Given the description of an element on the screen output the (x, y) to click on. 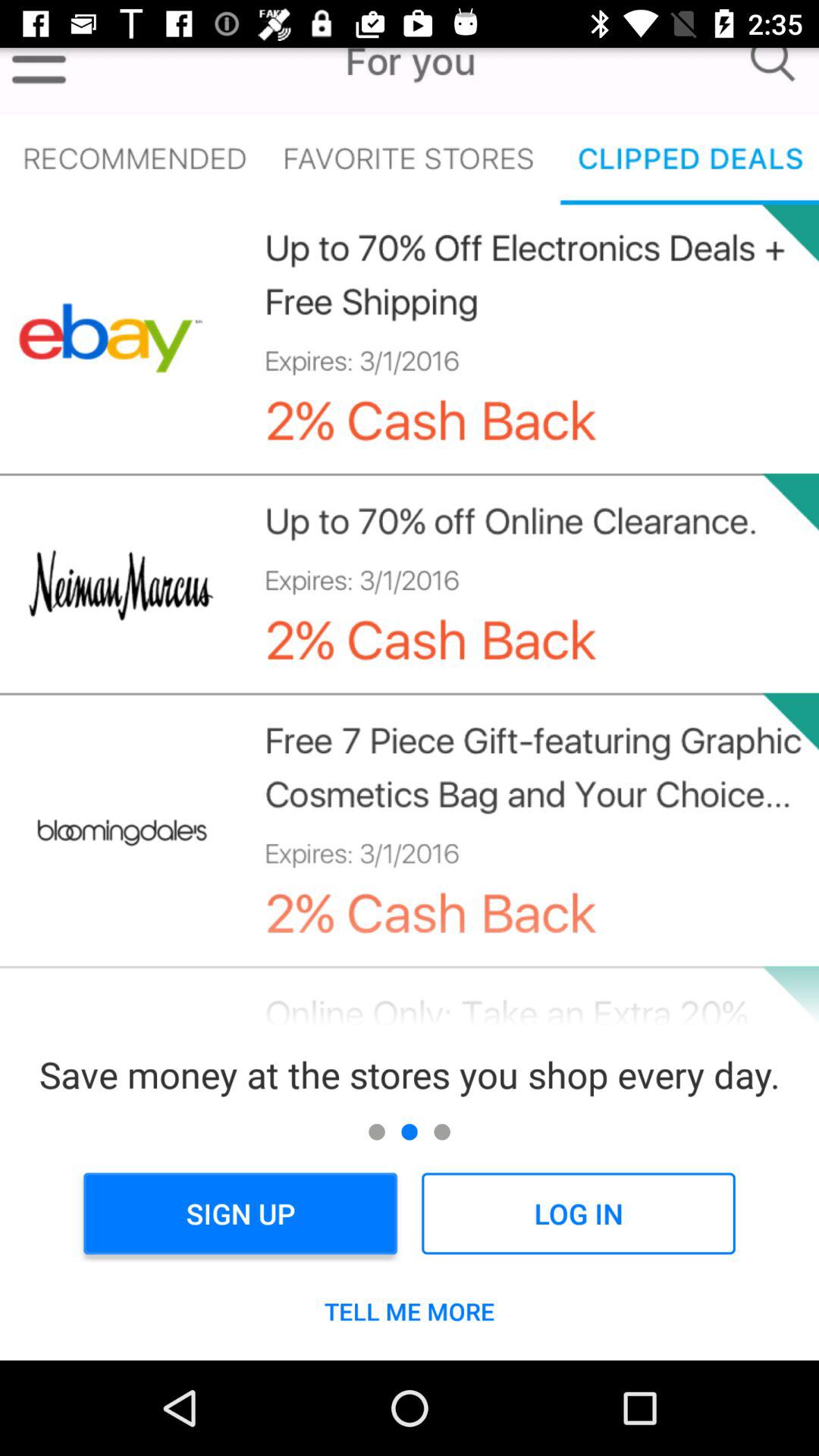
open sign up (240, 1213)
